Given the description of an element on the screen output the (x, y) to click on. 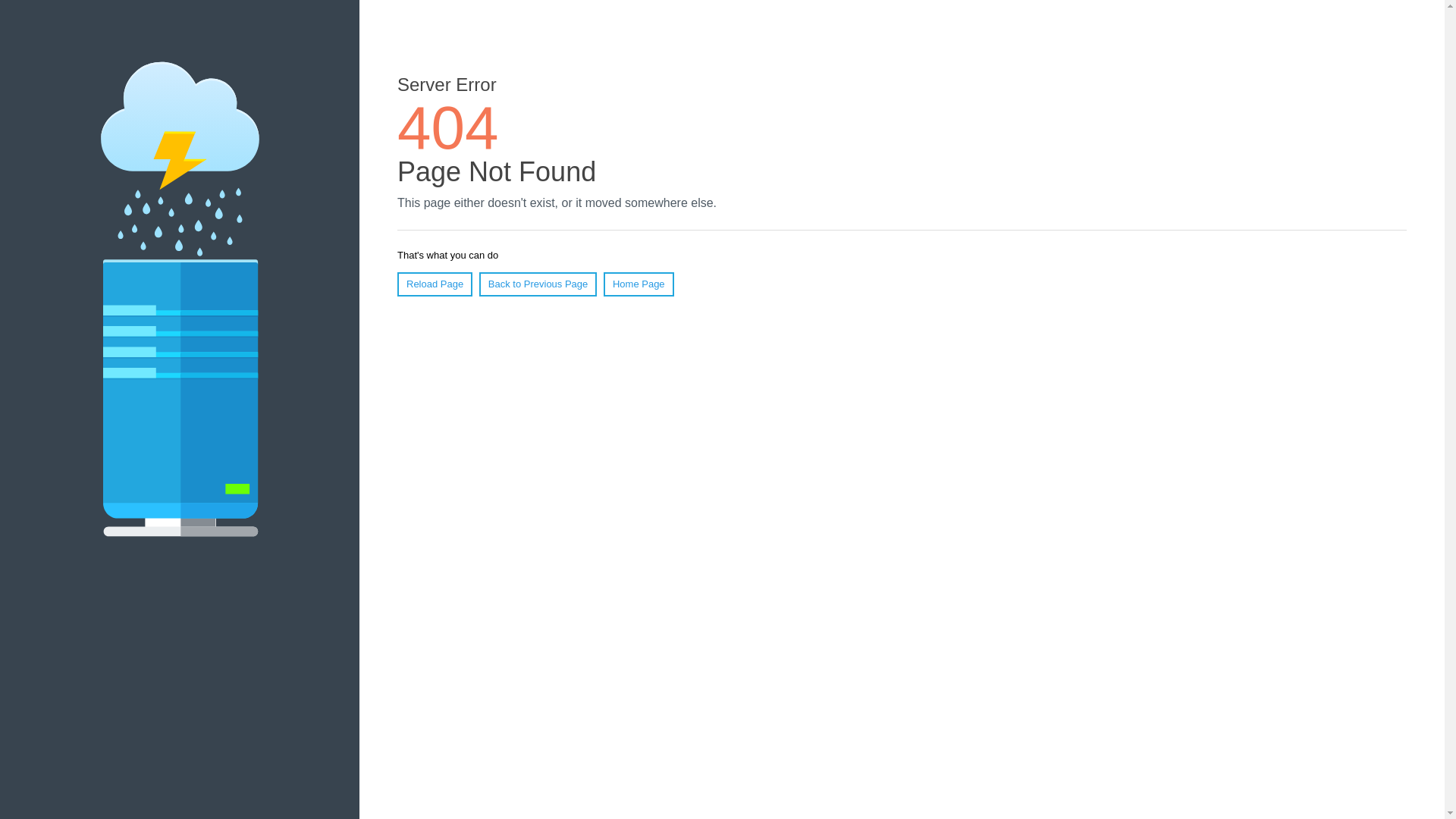
Reload Page Element type: text (434, 284)
Home Page Element type: text (638, 284)
Back to Previous Page Element type: text (538, 284)
